Given the description of an element on the screen output the (x, y) to click on. 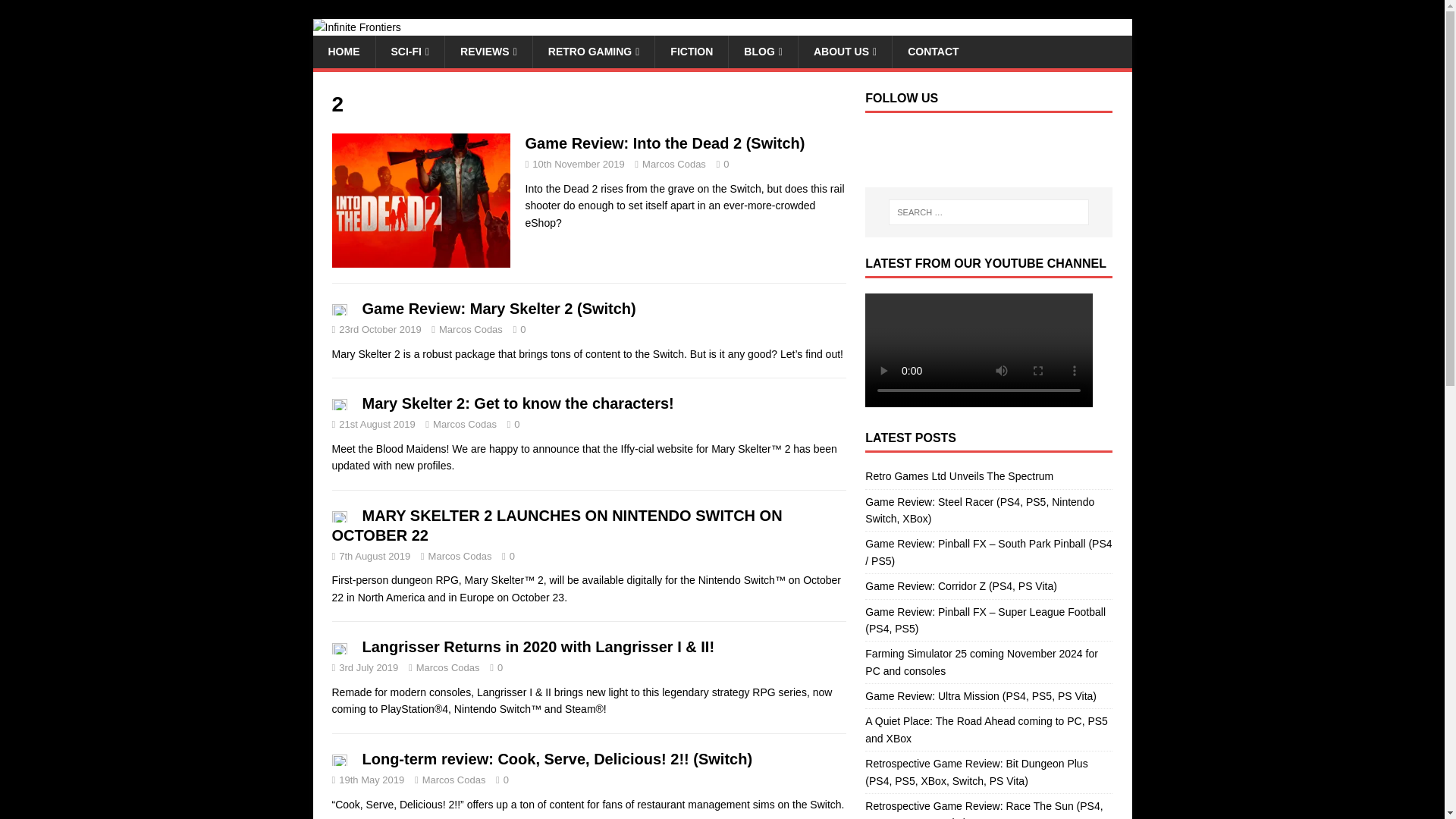
Infinite Frontiers (356, 27)
SCI-FI (409, 51)
FICTION (690, 51)
REVIEWS (488, 51)
HOME (343, 51)
RETRO GAMING (593, 51)
